Given the description of an element on the screen output the (x, y) to click on. 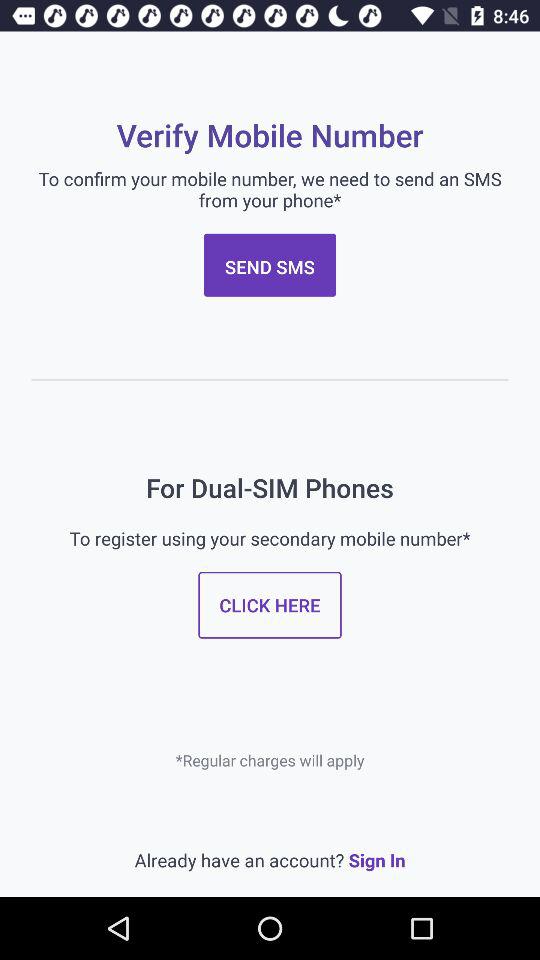
select the already have an icon (270, 859)
